Given the description of an element on the screen output the (x, y) to click on. 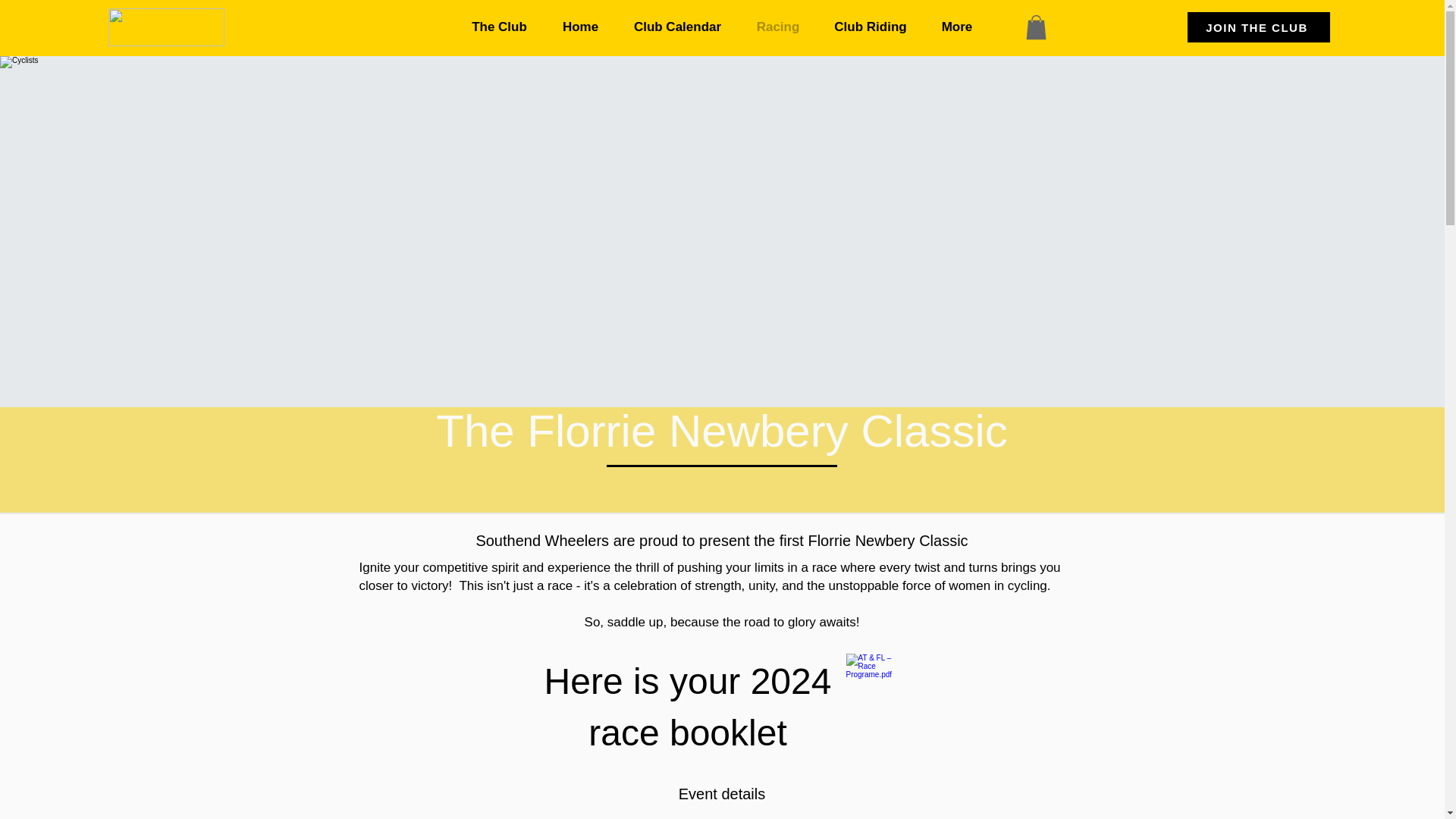
The Club (498, 26)
Club Calendar (676, 26)
Racing (777, 26)
Home (579, 26)
Club Riding (870, 26)
